Given the description of an element on the screen output the (x, y) to click on. 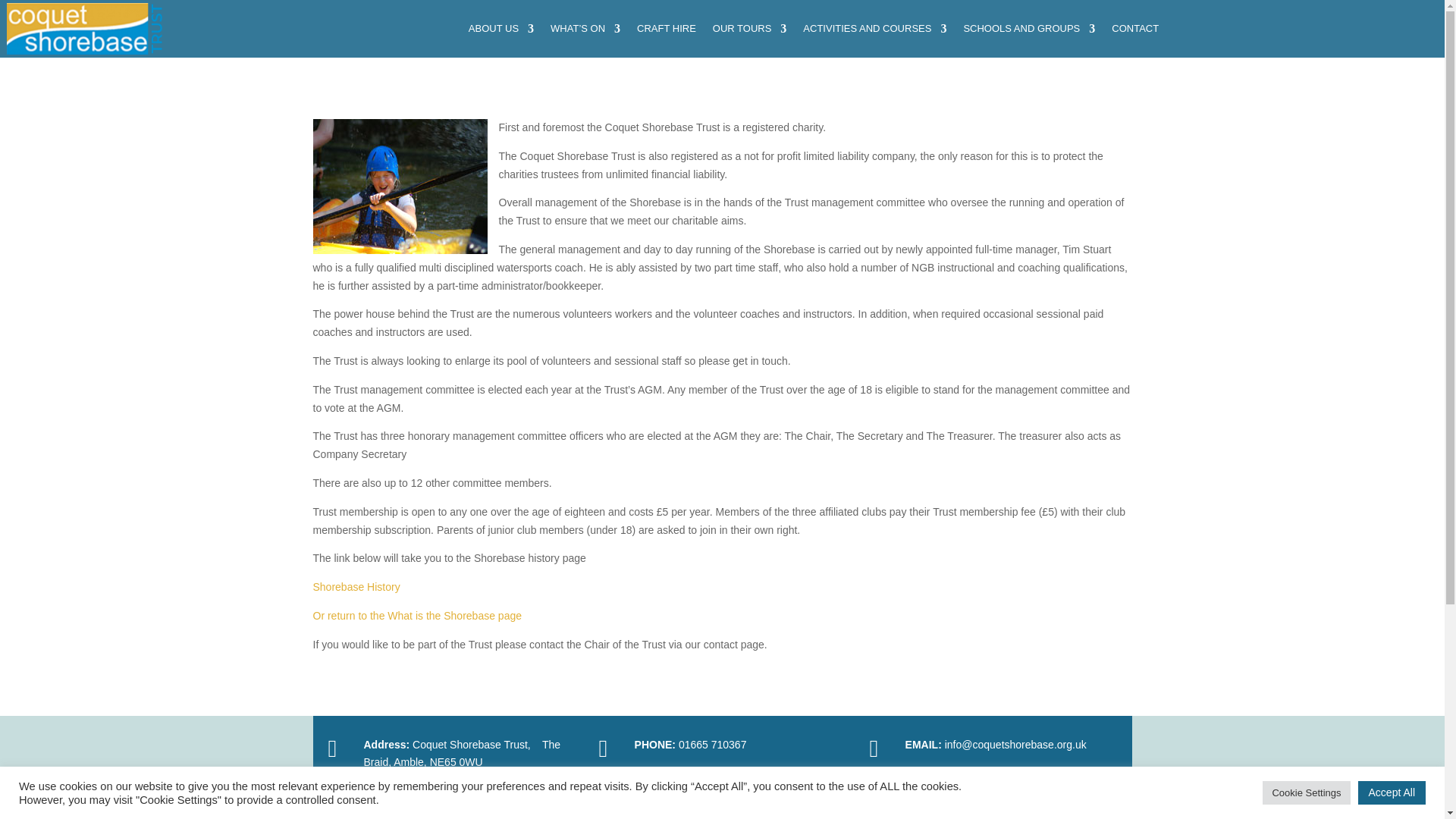
SCHOOLS AND GROUPS (1028, 28)
ACTIVITIES AND COURSES (874, 28)
OUR TOURS (750, 28)
CRAFT HIRE (666, 28)
ABOUT US (501, 28)
